Given the description of an element on the screen output the (x, y) to click on. 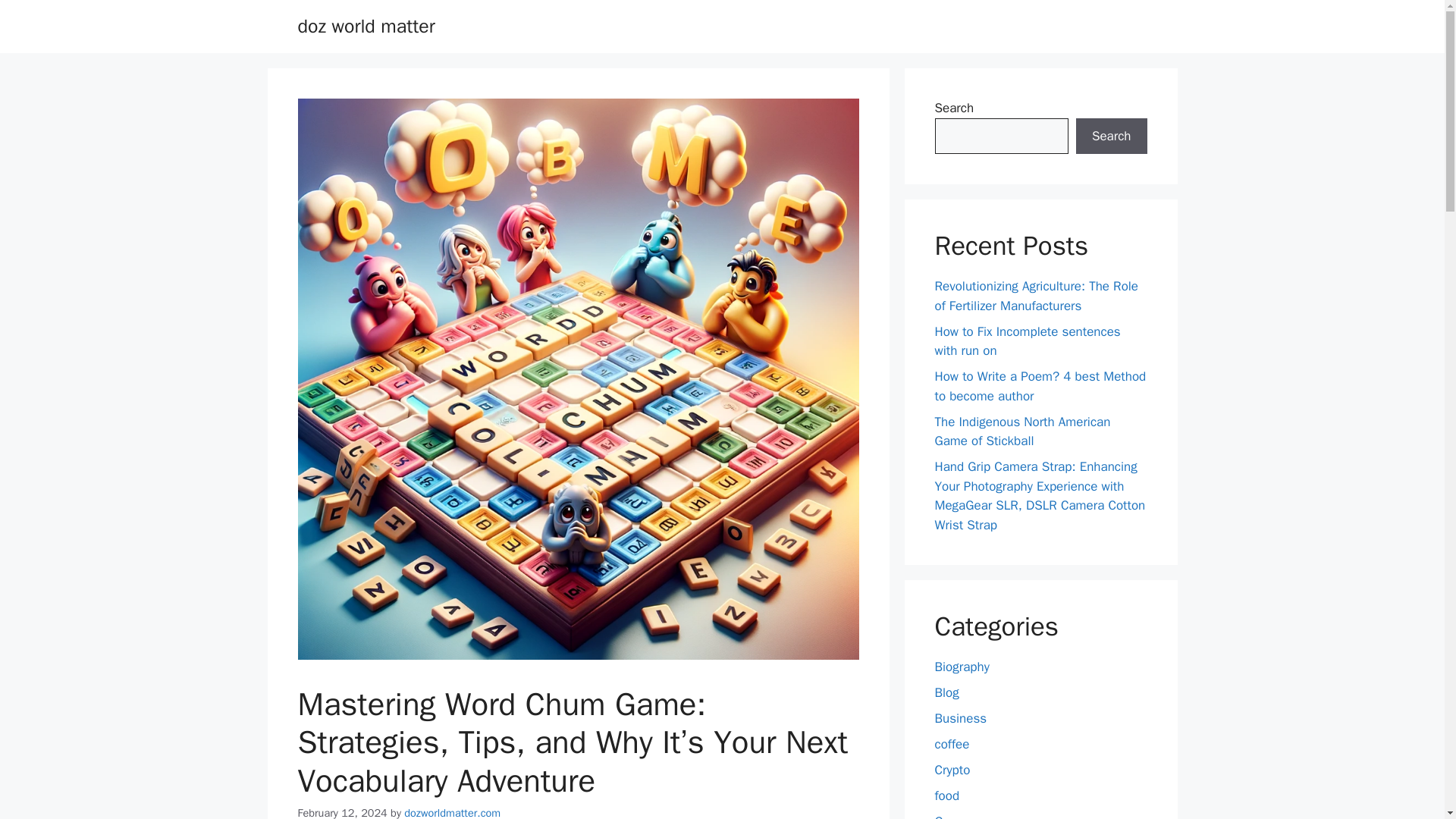
How to Fix Incomplete sentences with run on (1026, 340)
coffee (951, 744)
food (946, 795)
Biography (961, 666)
Blog (946, 692)
Search (1111, 135)
The Indigenous North American Game of Stickball (1021, 431)
Business (960, 718)
doz world matter (365, 25)
View all posts by dozworldmatter.com (452, 812)
dozworldmatter.com (452, 812)
How to Write a Poem? 4 best Method to become author  (1039, 386)
Games (954, 816)
